Given the description of an element on the screen output the (x, y) to click on. 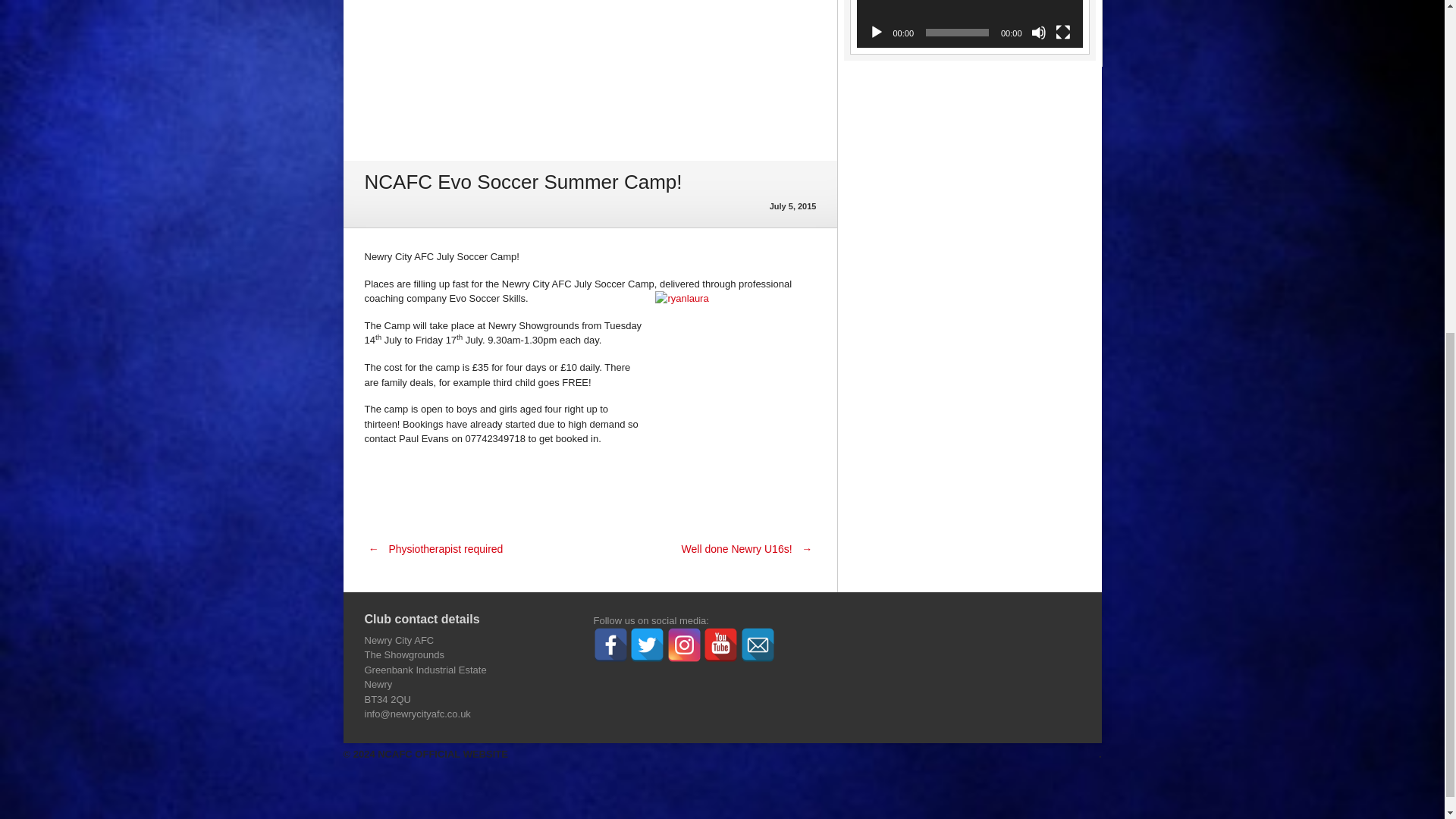
Instagram (683, 644)
Mute (1038, 32)
Email (757, 644)
Play (876, 32)
Facebook (609, 644)
YouTube (720, 644)
Twitter (646, 644)
Fullscreen (1062, 32)
July 5, 2015 (793, 205)
